Given the description of an element on the screen output the (x, y) to click on. 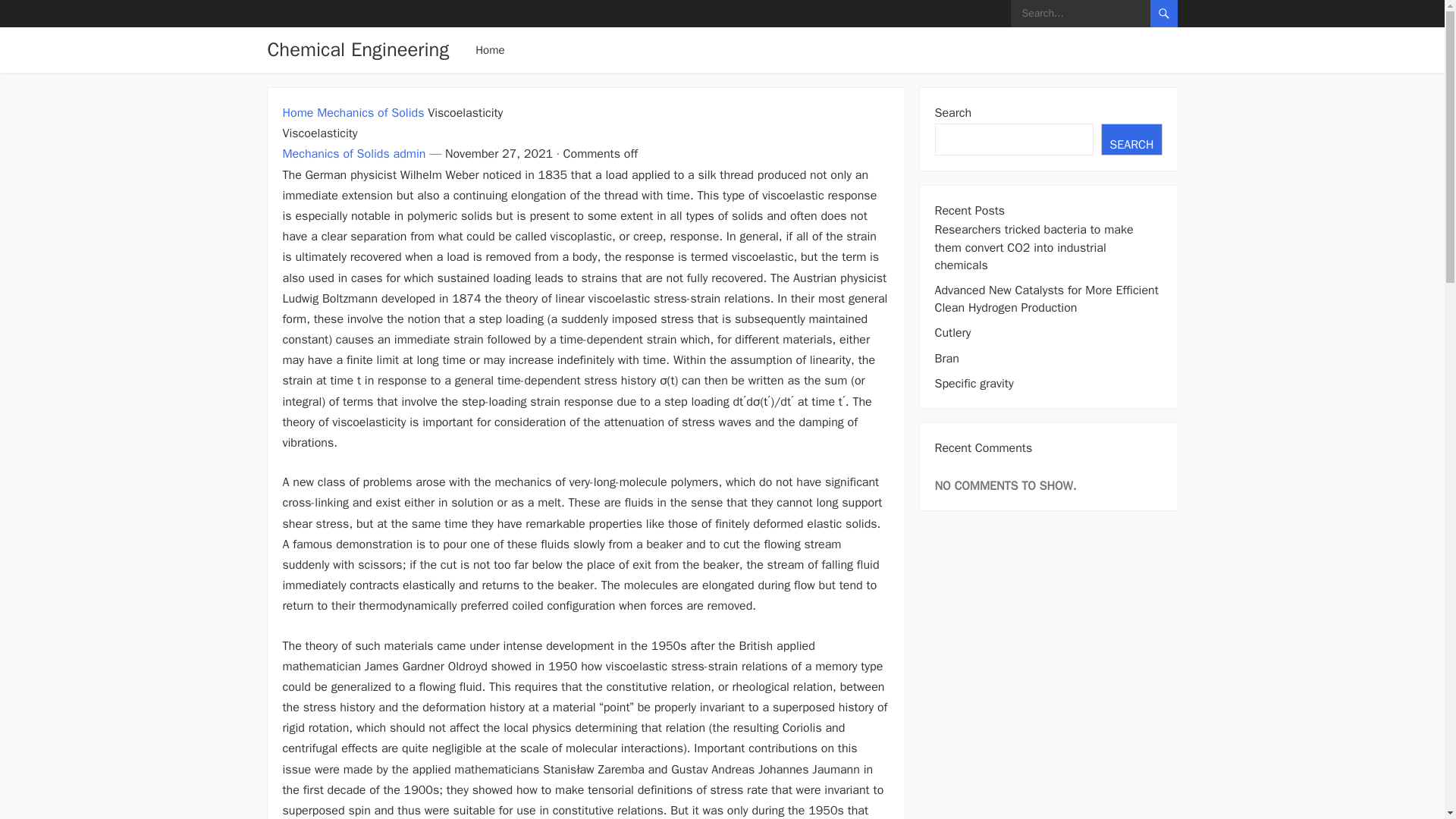
Chemical Engineering (357, 49)
Bran (946, 357)
Posts by admin (409, 153)
Mechanics of Solids (370, 112)
Home (297, 112)
admin (409, 153)
Cutlery (952, 332)
SEARCH (1130, 139)
